Given the description of an element on the screen output the (x, y) to click on. 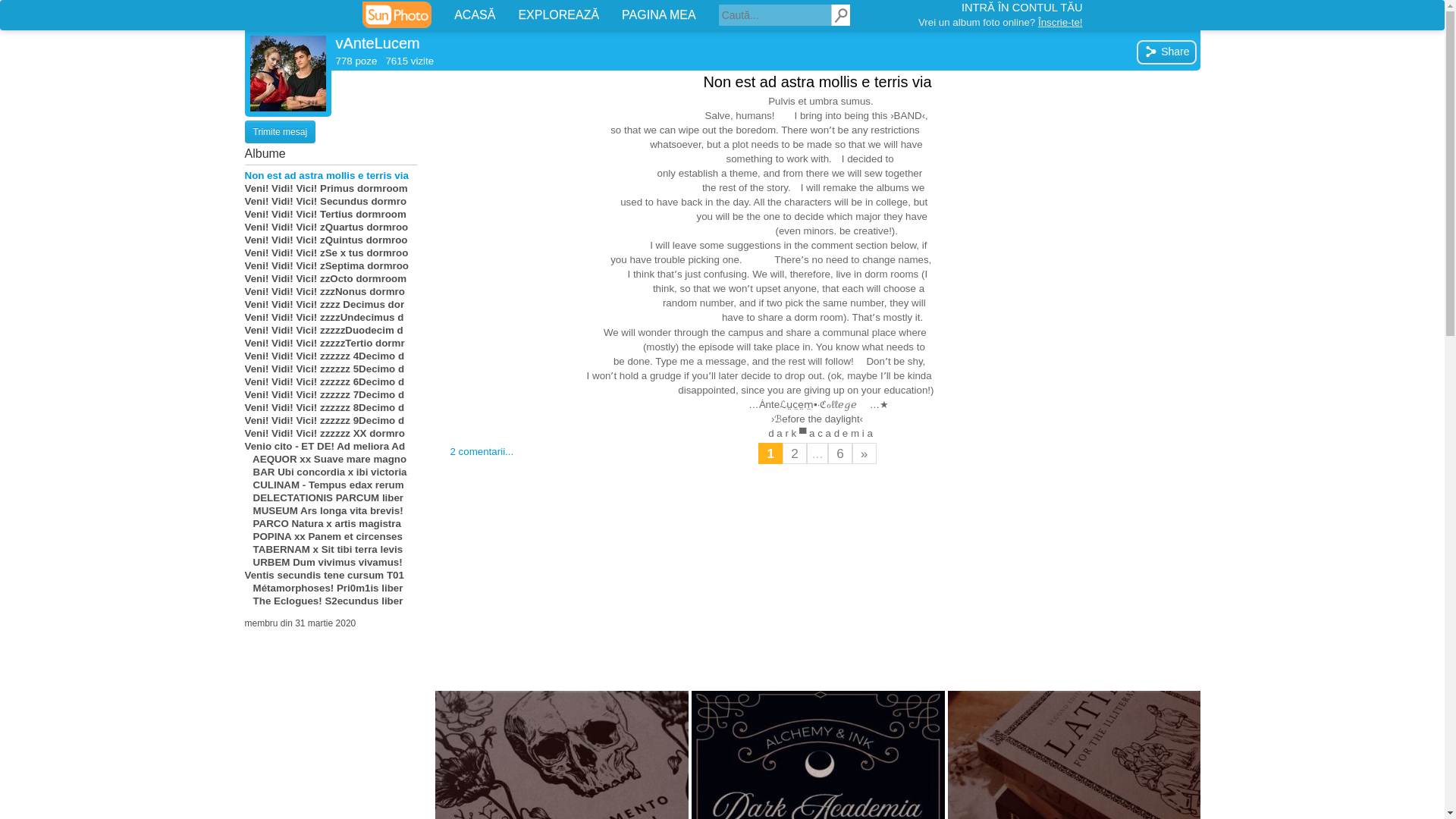
   BAR Ubi concordia x ibi victoria (330, 472)
Pagina 6 (839, 453)
Veni! Vidi! Vici! zzzzzz 6Decimo d (330, 381)
Pagina 2 (794, 453)
Veni! Vidi! Vici! zzzzzz 7Decimo d (330, 394)
   AEQUOR xx Suave mare magno (330, 459)
Veni! Vidi! Vici! zzzzzz 8Decimo d (330, 407)
Veni! Vidi! Vici! Primus dormroom (330, 187)
Veni! Vidi! Vici! zzzzzz XX dormro (330, 432)
